Given the description of an element on the screen output the (x, y) to click on. 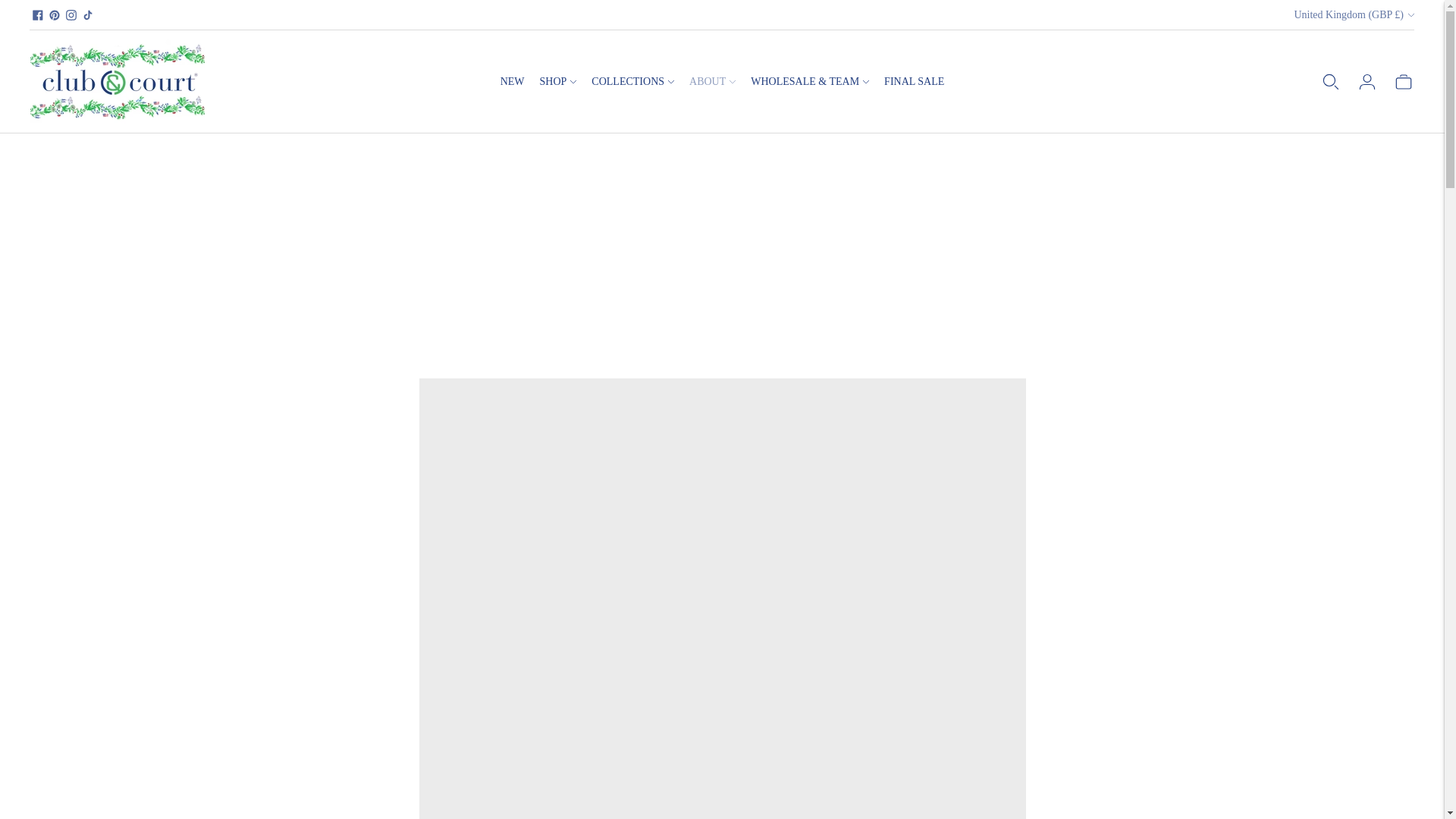
Club and Court on Instagram (71, 14)
Club and Court on TikTok (87, 14)
Club and Court on Pinterest (54, 14)
Club and Court on Facebook (37, 14)
